Given the description of an element on the screen output the (x, y) to click on. 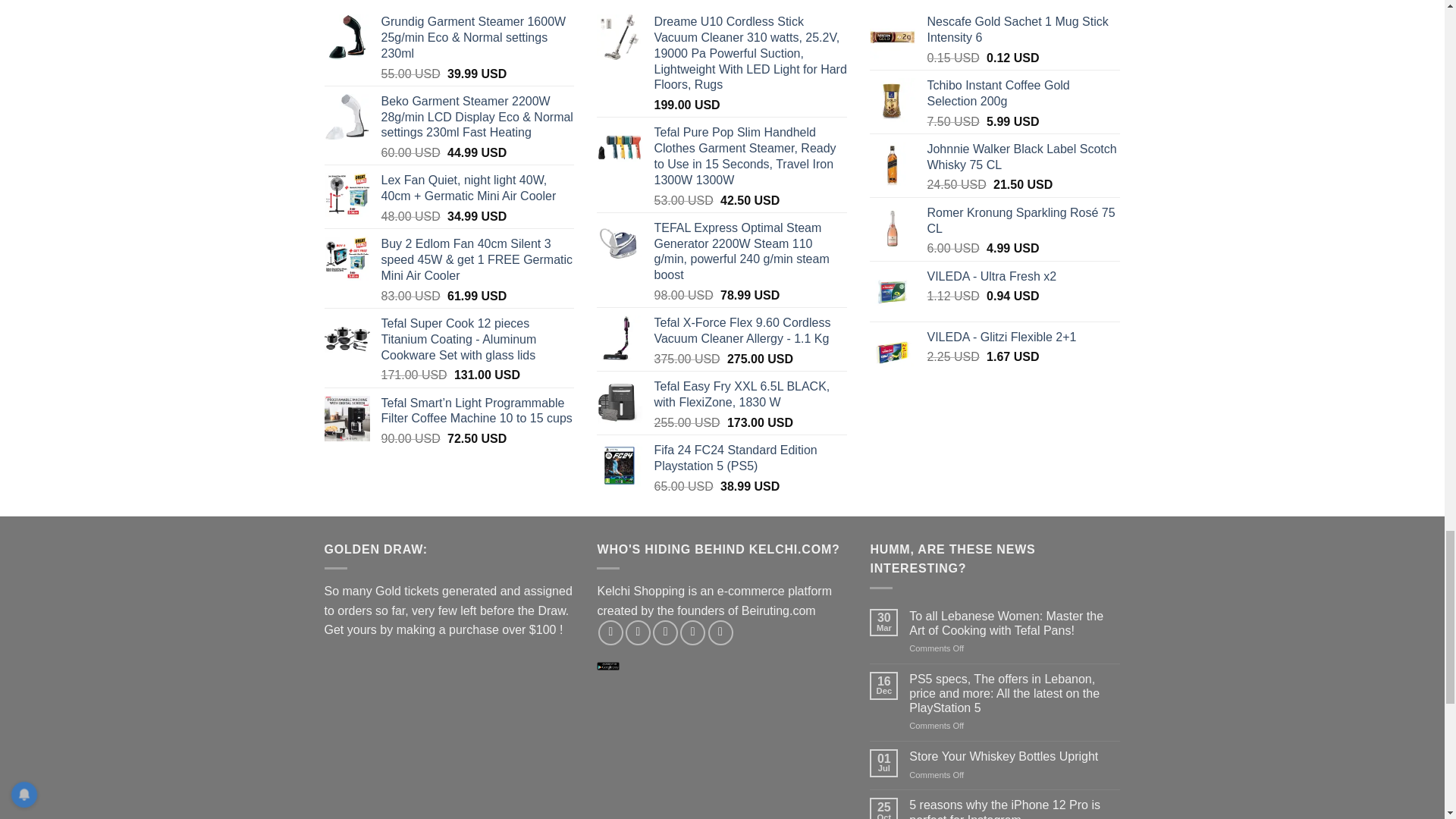
Follow on Instagram (638, 632)
Follow on Facebook (610, 632)
Call us (720, 632)
Send us an email (691, 632)
Follow on Twitter (665, 632)
